Given the description of an element on the screen output the (x, y) to click on. 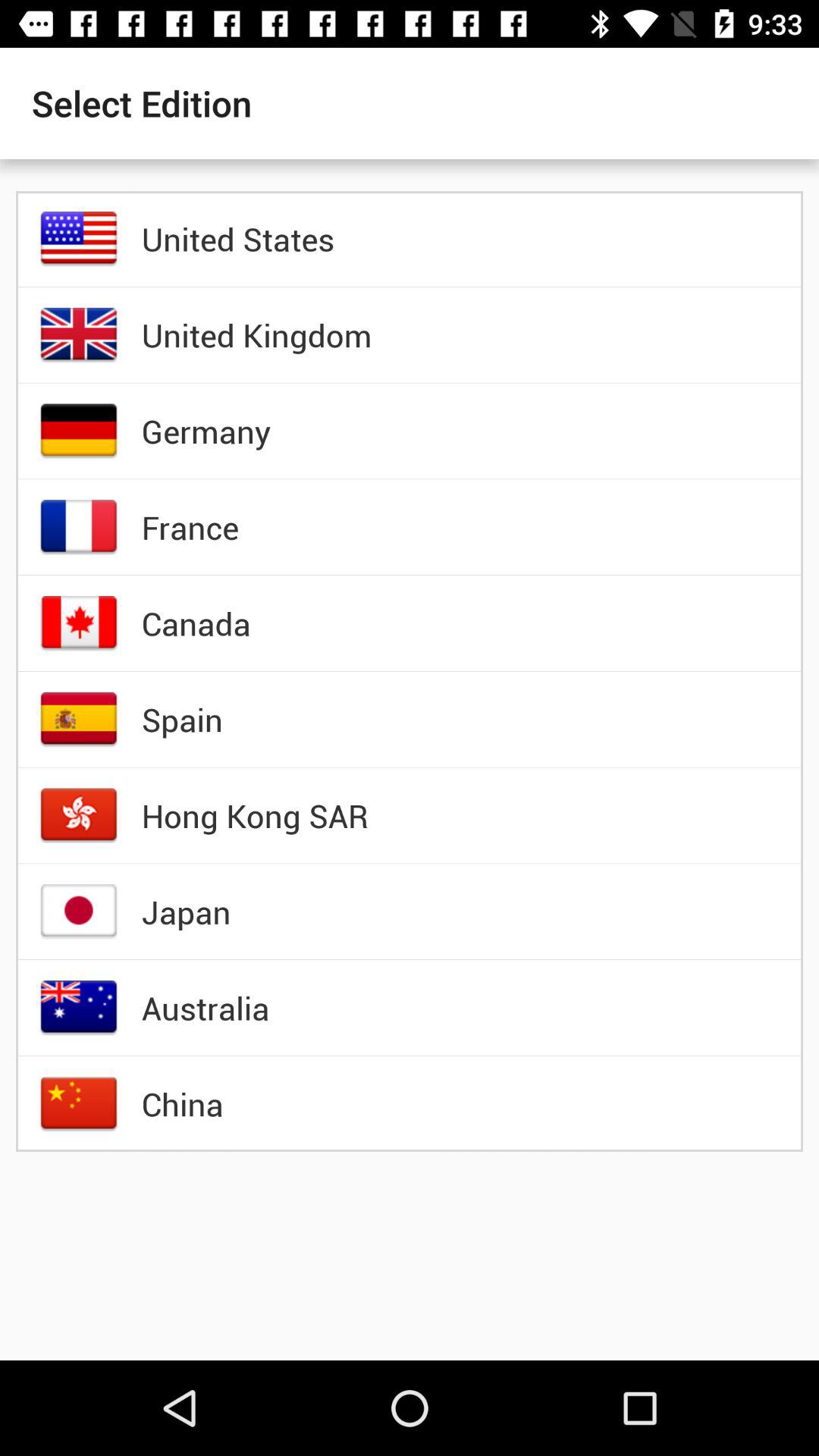
scroll until the japan icon (185, 911)
